Given the description of an element on the screen output the (x, y) to click on. 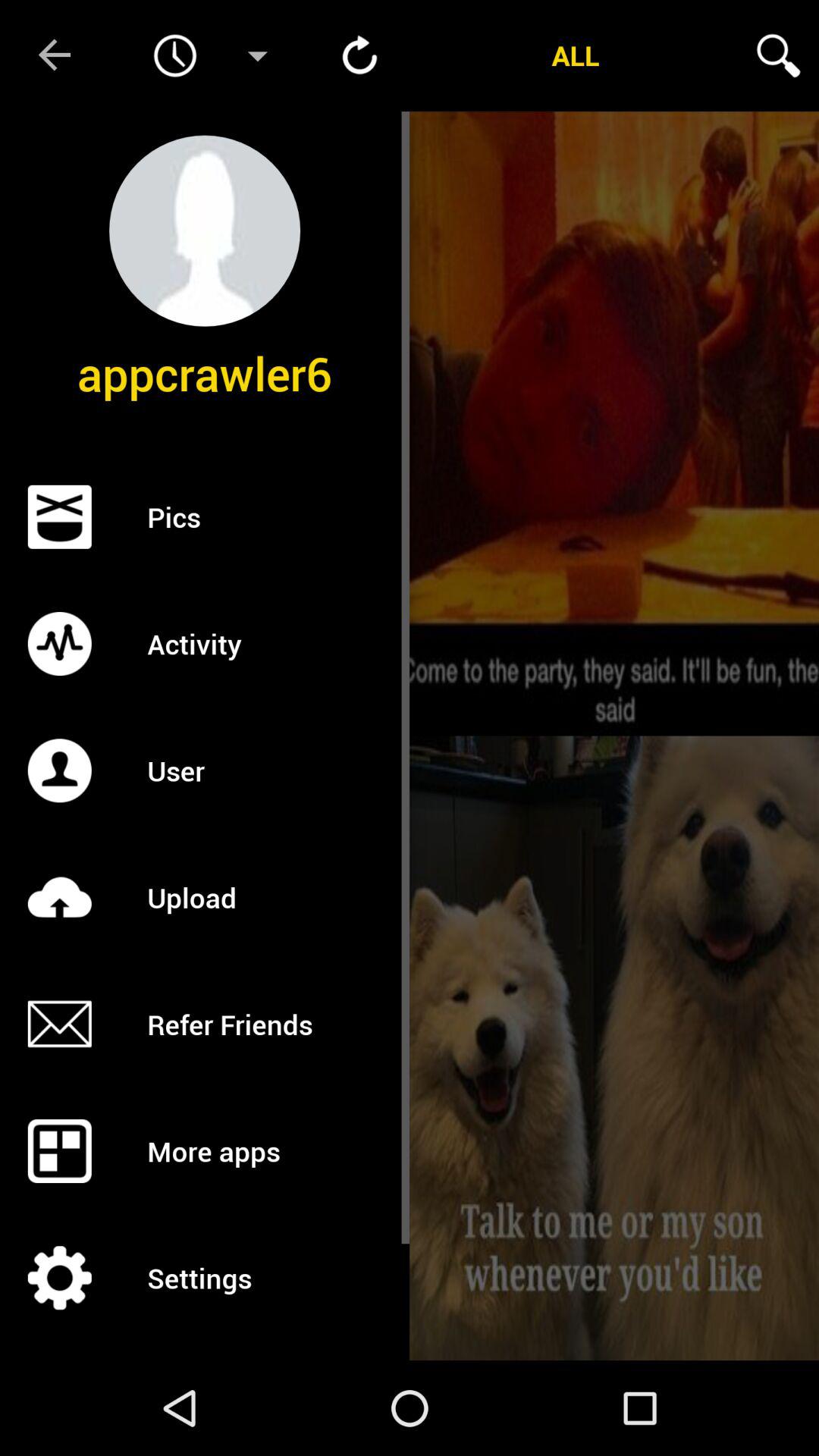
search the menu (778, 55)
